Given the description of an element on the screen output the (x, y) to click on. 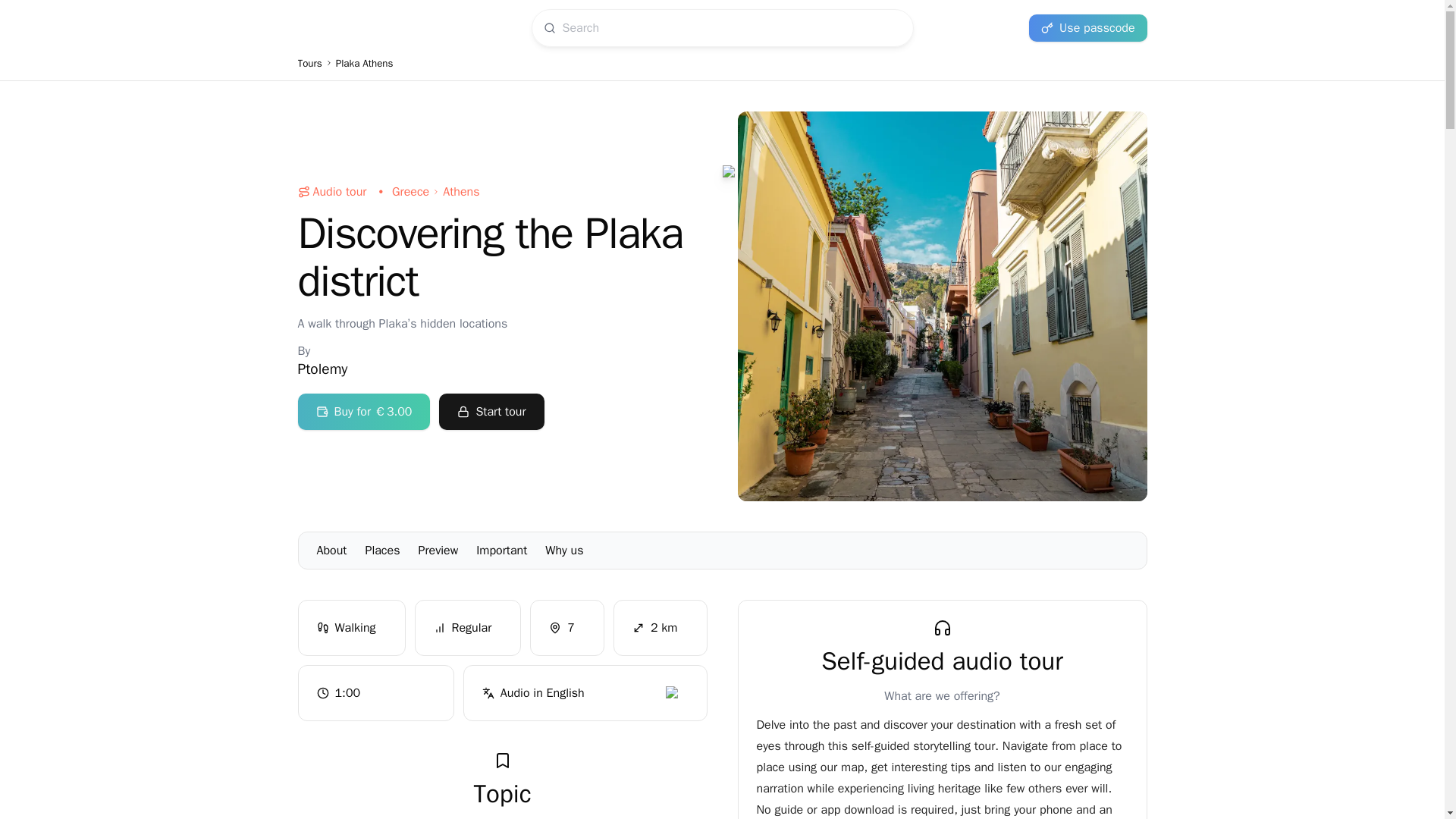
Preview (437, 549)
Use passcode (1088, 27)
Tours (309, 63)
Why us (722, 550)
Places (563, 549)
About (721, 68)
